Given the description of an element on the screen output the (x, y) to click on. 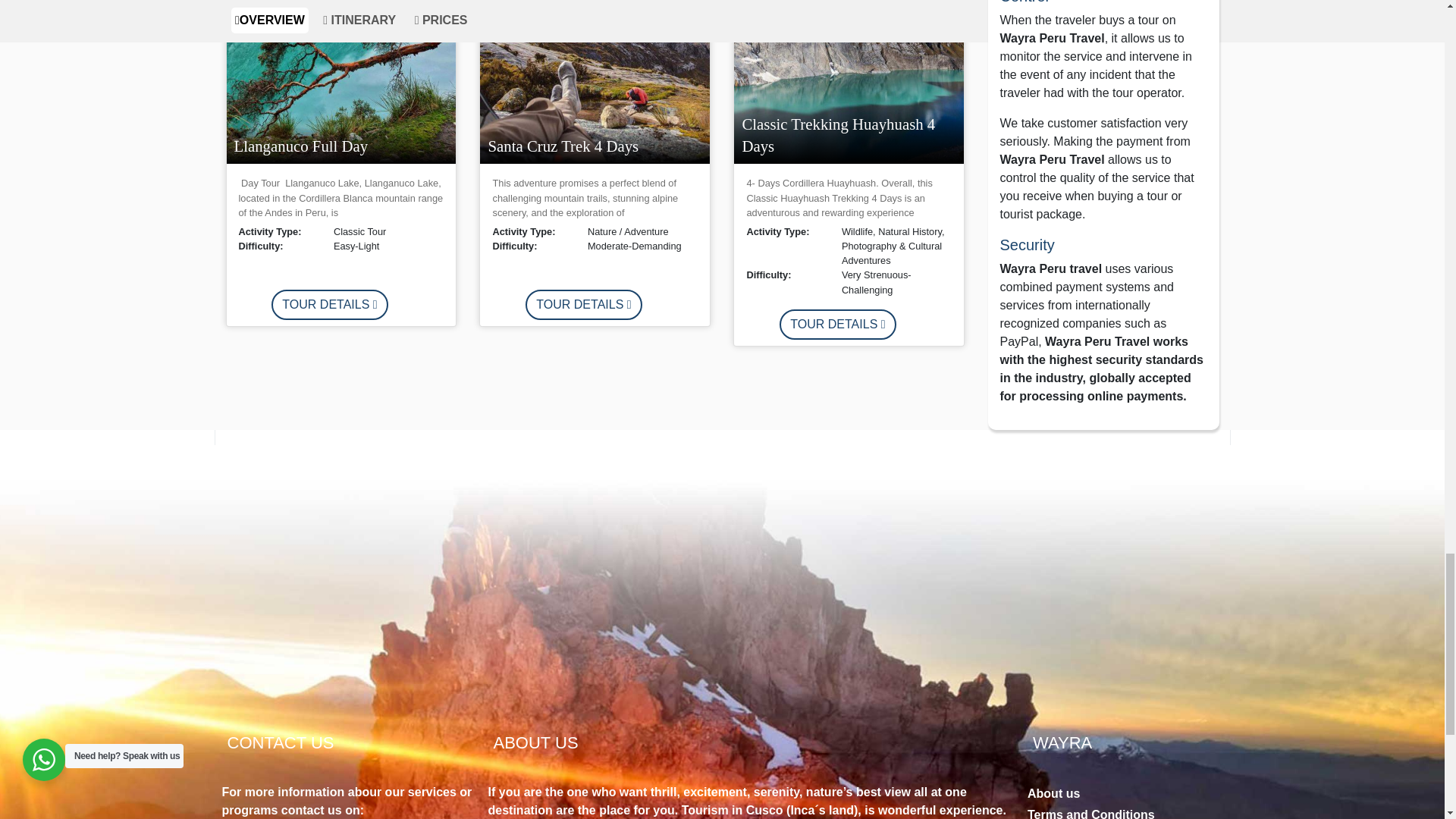
Read more: Classic Trekking Huayhuash 4 Days (836, 324)
Read more: Llanganuco Full Day (328, 304)
Read more: Santa Cruz Trek 4 Days (583, 304)
